Given the description of an element on the screen output the (x, y) to click on. 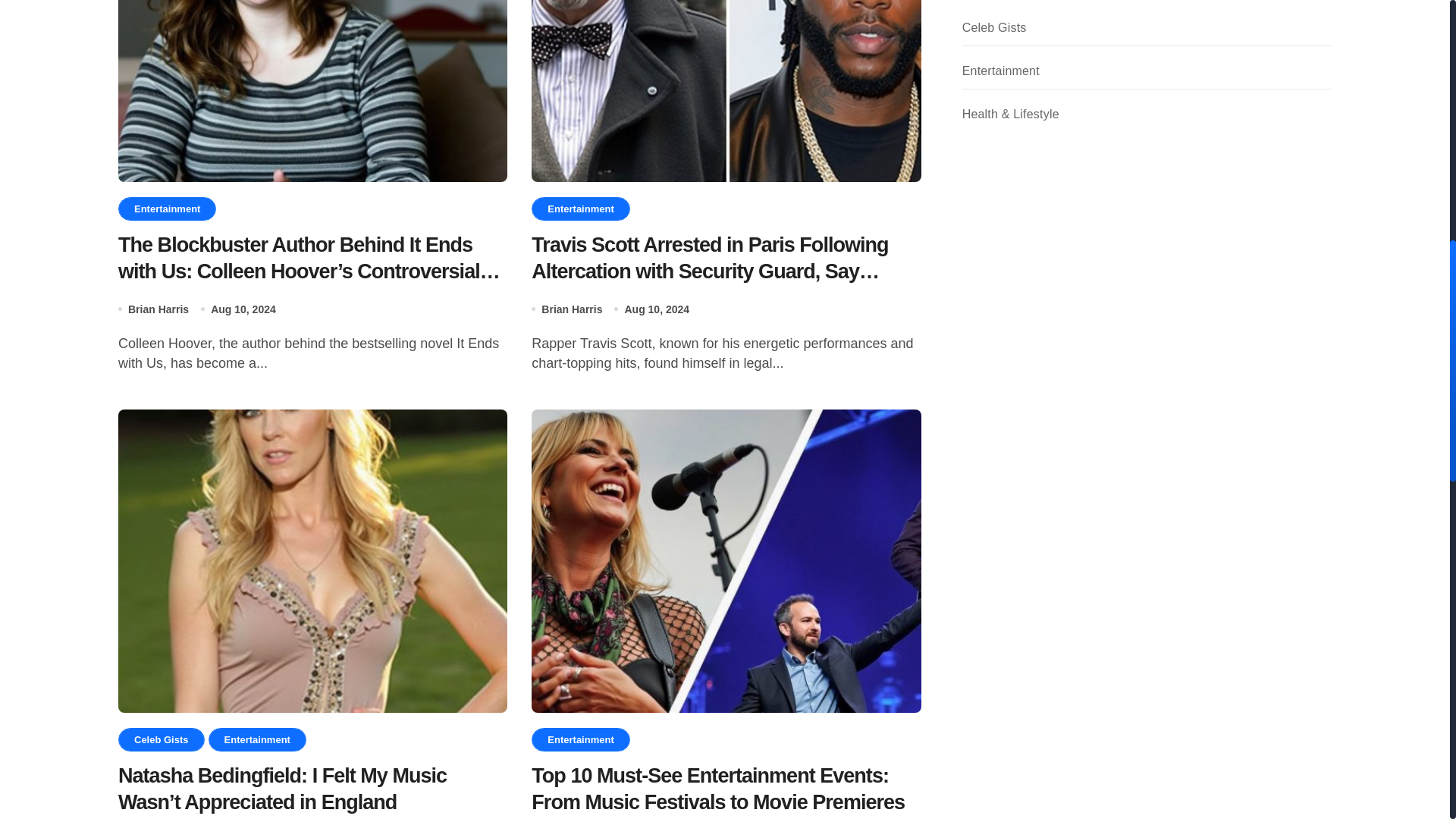
Brian Harris (571, 309)
Aug 10, 2024 (243, 309)
Brian Harris (158, 309)
Celeb Gists (161, 739)
Entertainment (166, 208)
Entertainment (256, 739)
Entertainment (579, 739)
Entertainment (579, 208)
Aug 10, 2024 (656, 309)
